Given the description of an element on the screen output the (x, y) to click on. 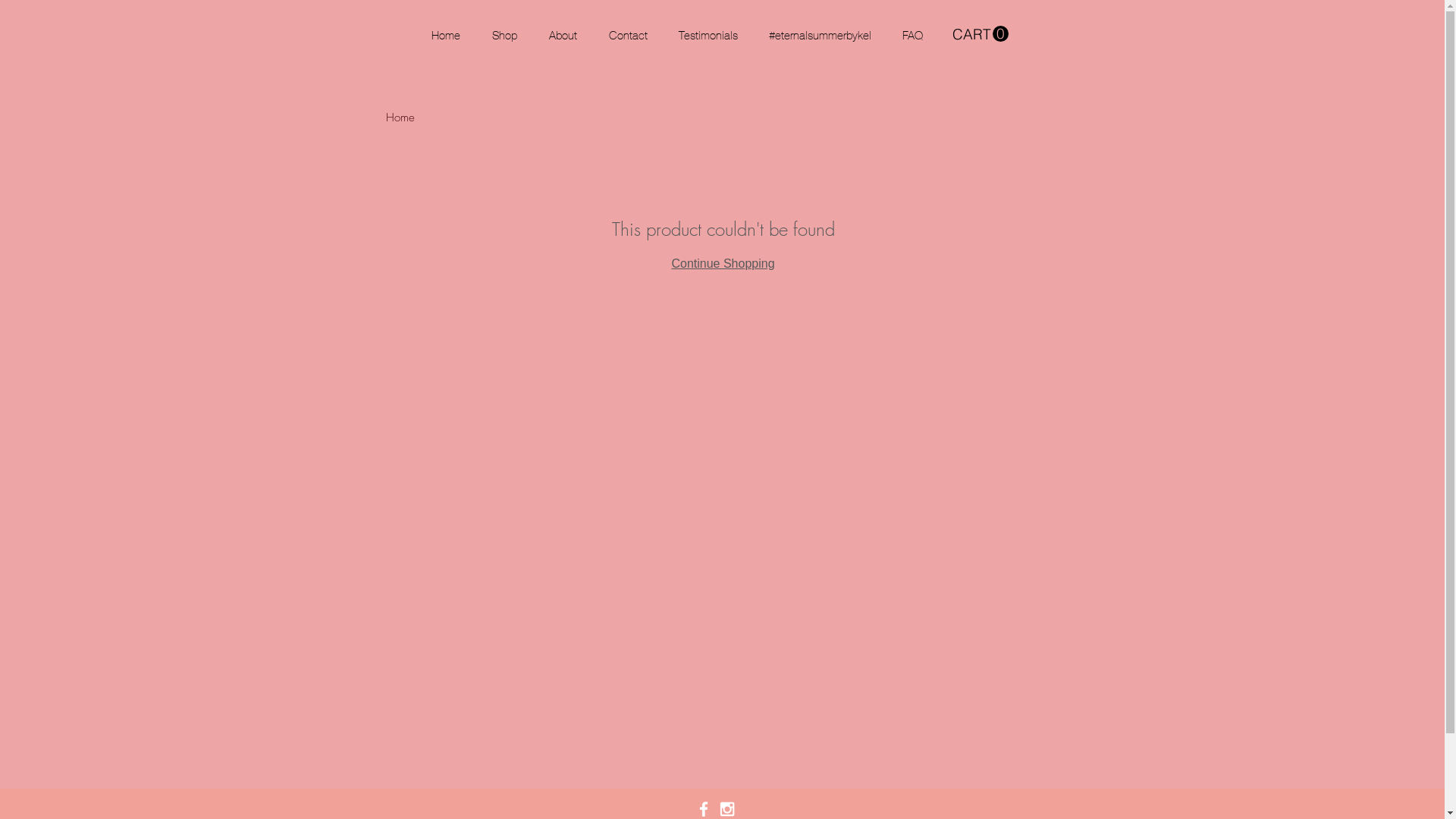
#eternalsummerbykel Element type: text (833, 35)
Home Element type: text (459, 35)
About Element type: text (577, 35)
Continue Shopping Element type: text (722, 263)
Shop Element type: text (518, 35)
Home Element type: text (399, 117)
0
CART Element type: text (980, 33)
FAQ Element type: text (926, 35)
Testimonials Element type: text (721, 35)
Contact Element type: text (641, 35)
